Given the description of an element on the screen output the (x, y) to click on. 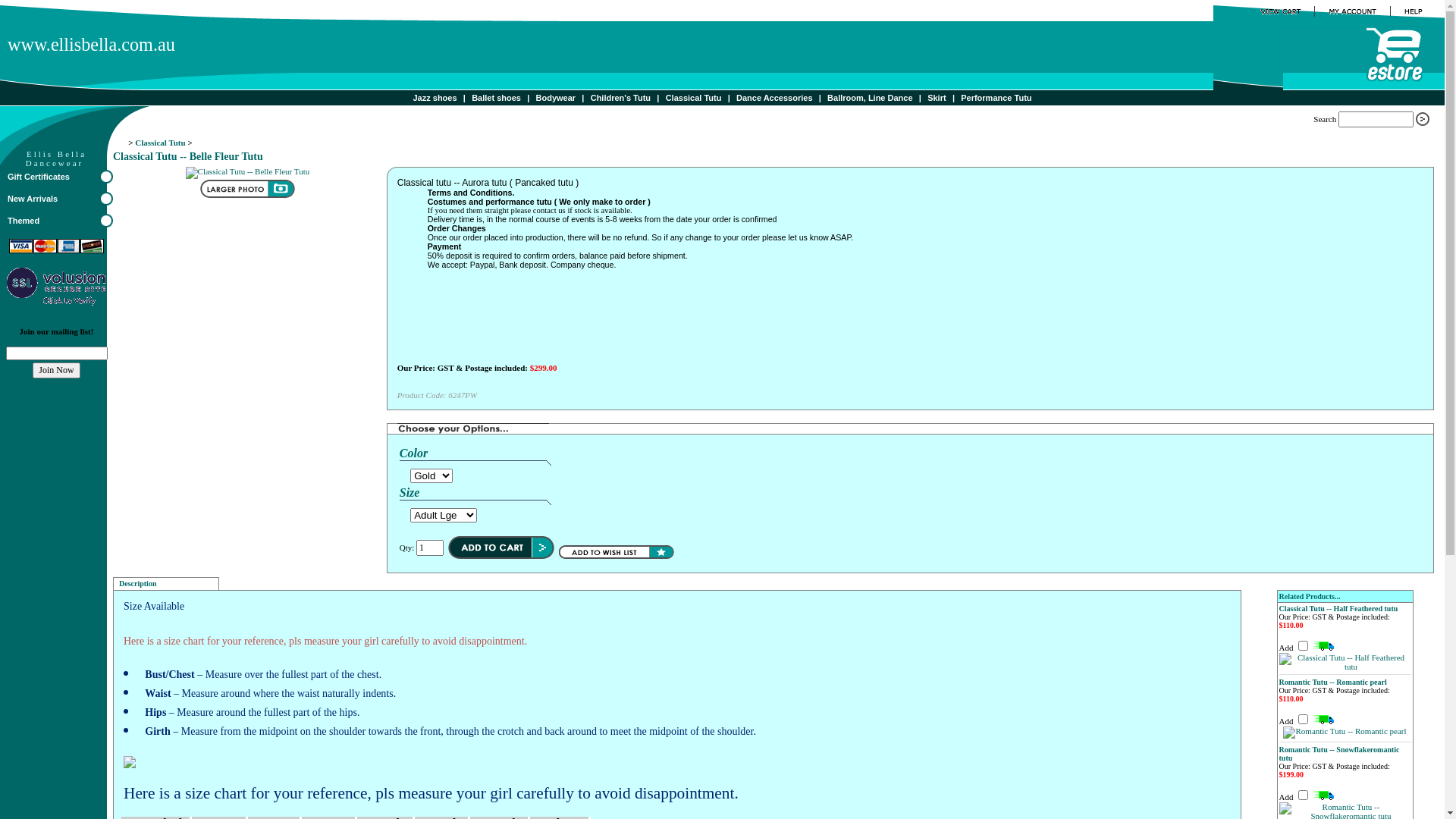
Classical Tutu -- Half Feathered tutu Element type: text (1338, 608)
| Element type: text (657, 97)
Classical Tutu -- Half Feathered tutu Element type: hover (1345, 666)
Performance Tutu Element type: text (995, 97)
Children's Tutu Element type: text (620, 97)
| Element type: text (820, 97)
New Arrivals Element type: text (32, 198)
Romantic Tutu -- Romantic pearl Element type: hover (1344, 732)
Bodywear Element type: text (556, 97)
Romantic Tutu -- Romantic pearl Element type: hover (1344, 730)
| Element type: text (953, 97)
Join Now Element type: text (55, 370)
Jazz shoes Element type: text (434, 97)
Classical Tutu Element type: text (159, 142)
Quantity Element type: hover (429, 547)
Description Element type: text (166, 583)
Ballet shoes Element type: text (495, 97)
| Element type: text (528, 97)
www.ellisbella.com.au Element type: text (224, 48)
Ballroom, Line Dance Element type: text (869, 97)
Themed Element type: text (23, 220)
| Element type: text (582, 97)
Gift Certificates Element type: text (59, 176)
Classical Tutu -- Belle Fleur Tutu Element type: hover (247, 195)
| Element type: text (729, 97)
Romantic Tutu -- Romantic pearl Element type: text (1332, 681)
Classical Tutu -- Belle Fleur Tutu Element type: hover (247, 170)
Skirt Element type: text (936, 97)
Romantic Tutu -- Snowflakeromantic tutu Element type: text (1339, 753)
New Arrivals Element type: text (59, 198)
Classical Tutu Element type: text (693, 97)
| Element type: text (464, 97)
Dance Accessories Element type: text (774, 97)
Themed Element type: text (59, 220)
Gift Certificates Element type: text (38, 176)
| Element type: text (920, 97)
Classical Tutu -- Half Feathered tutu Element type: hover (1345, 661)
Classical Tutu -- Belle Fleur Tutu Element type: hover (247, 172)
